Given the description of an element on the screen output the (x, y) to click on. 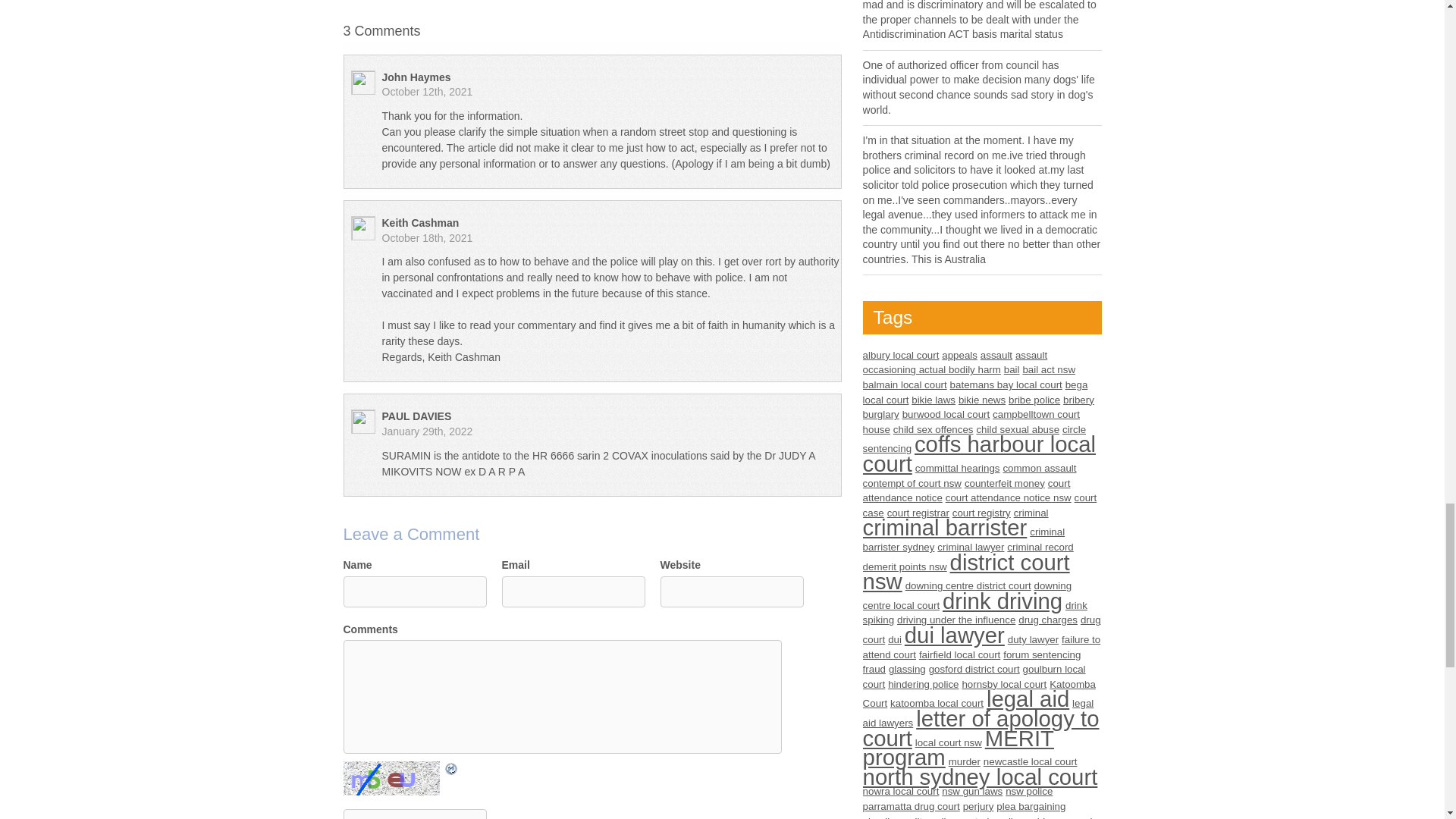
1 topics (982, 399)
1 topics (959, 355)
1 topics (995, 355)
1 topics (1048, 369)
CAPTCHA (392, 778)
1 topics (905, 384)
Refresh (451, 768)
1 topics (955, 362)
1 topics (901, 355)
1 topics (1006, 384)
1 topics (1012, 369)
1 topics (933, 399)
1 topics (975, 392)
